Given the description of an element on the screen output the (x, y) to click on. 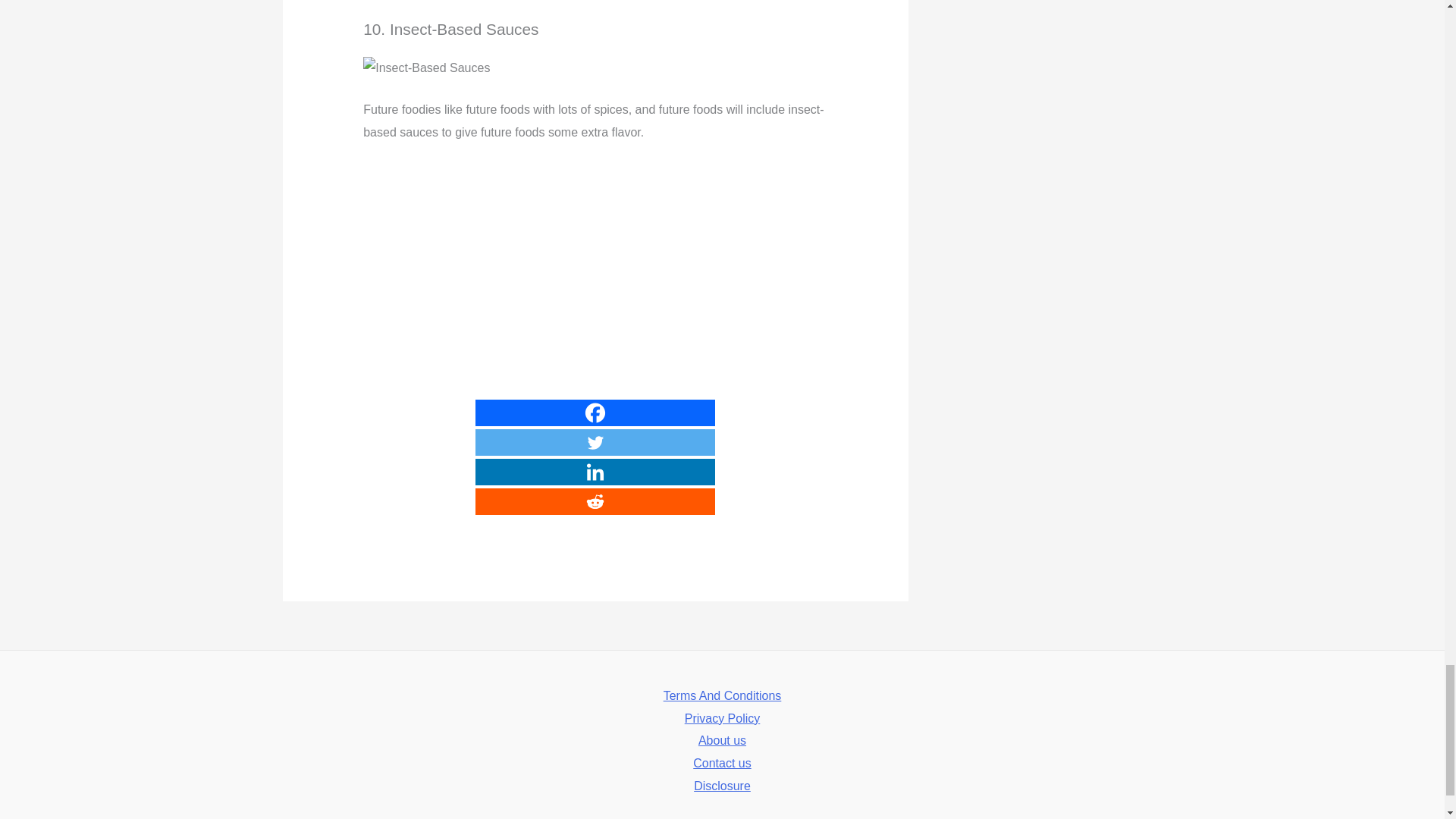
About us (721, 740)
Reddit (595, 501)
Terms And Conditions (722, 695)
Disclosure (722, 785)
Facebook (595, 412)
Linkedin (595, 471)
Contact us (722, 763)
Privacy Policy (722, 718)
Twitter (595, 442)
